Given the description of an element on the screen output the (x, y) to click on. 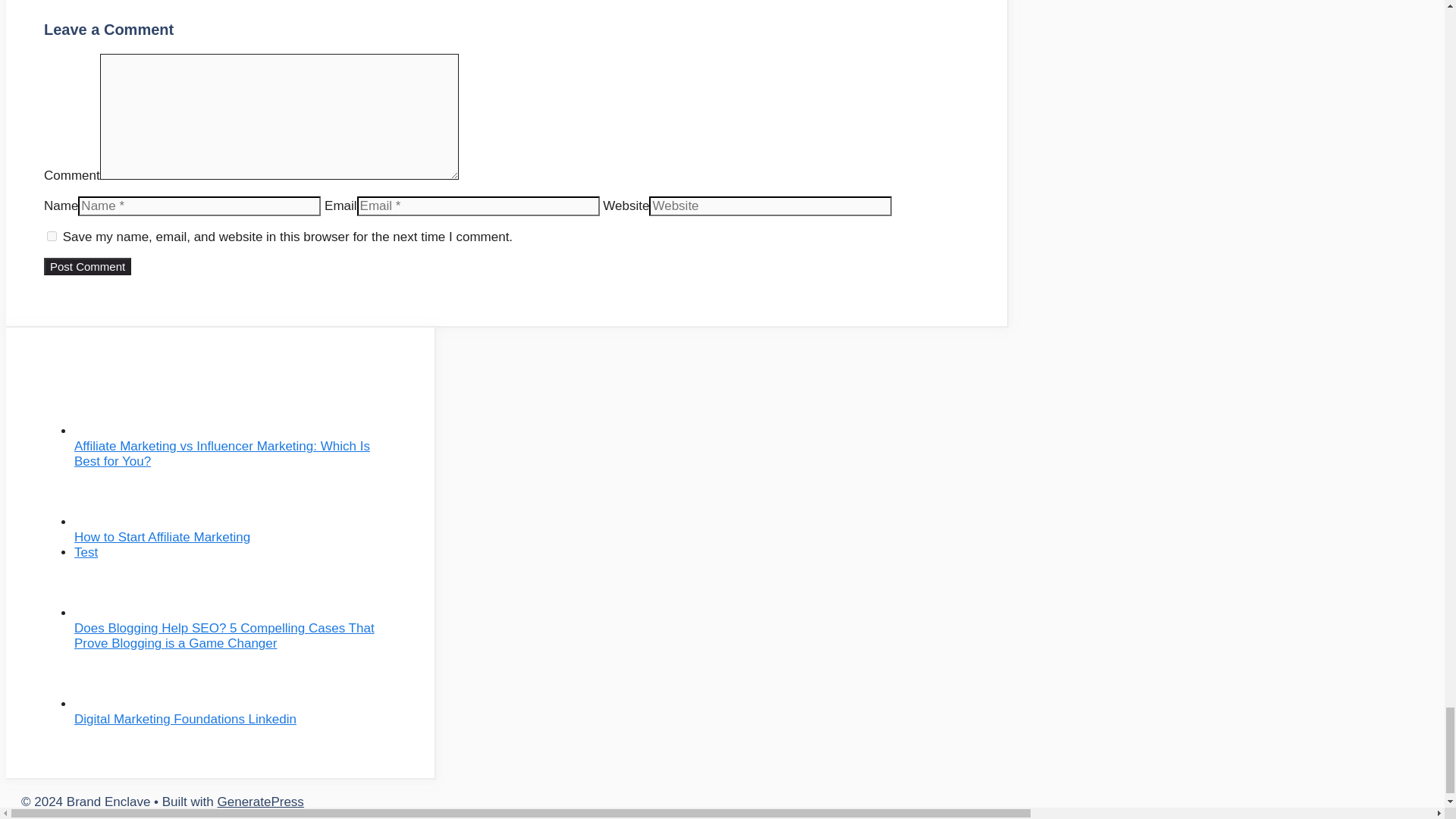
yes (51, 235)
Post Comment (87, 266)
